Given the description of an element on the screen output the (x, y) to click on. 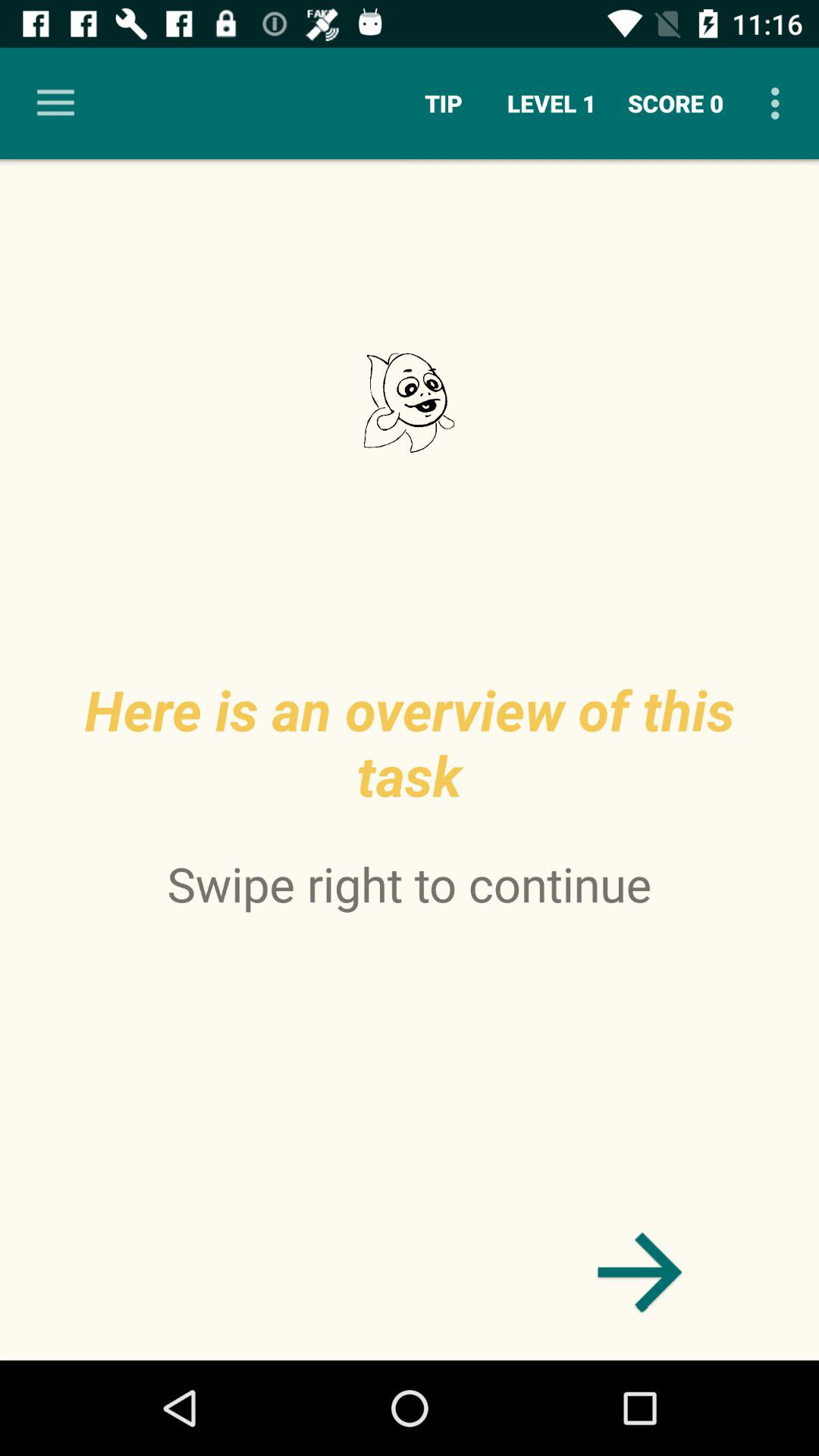
launch item next to the score 0 icon (551, 103)
